Given the description of an element on the screen output the (x, y) to click on. 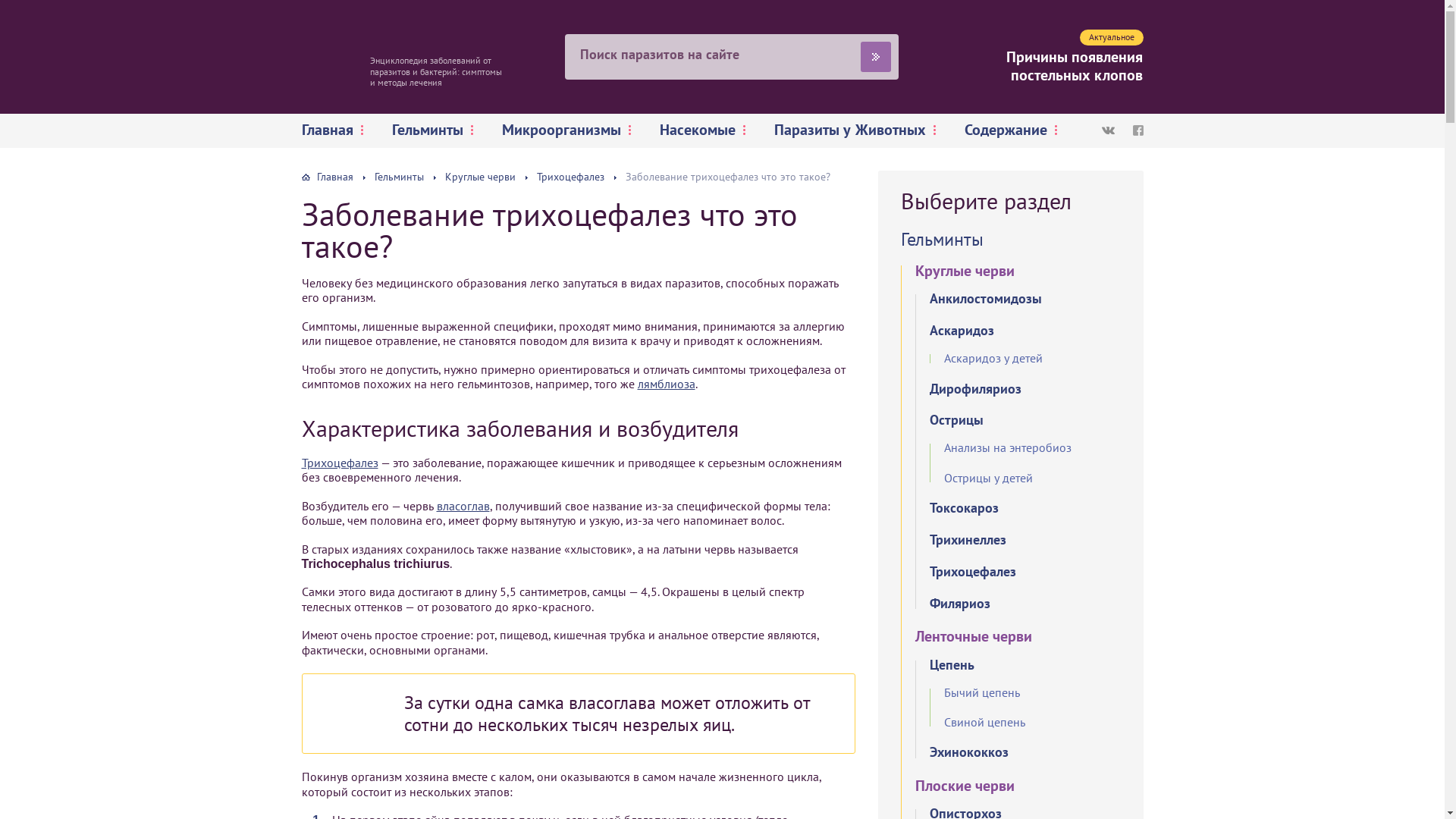
Facebook Element type: text (1137, 130)
